Given the description of an element on the screen output the (x, y) to click on. 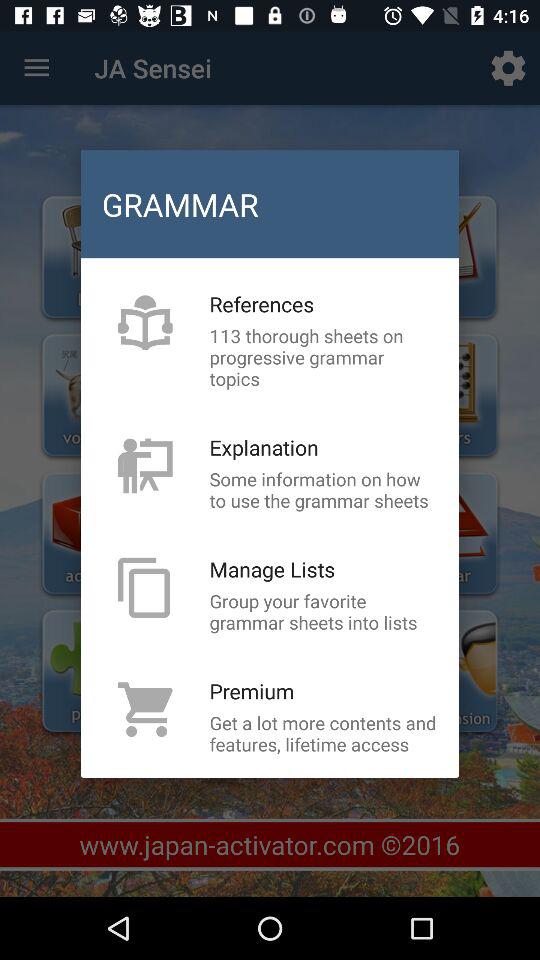
flip until get a lot item (323, 733)
